Given the description of an element on the screen output the (x, y) to click on. 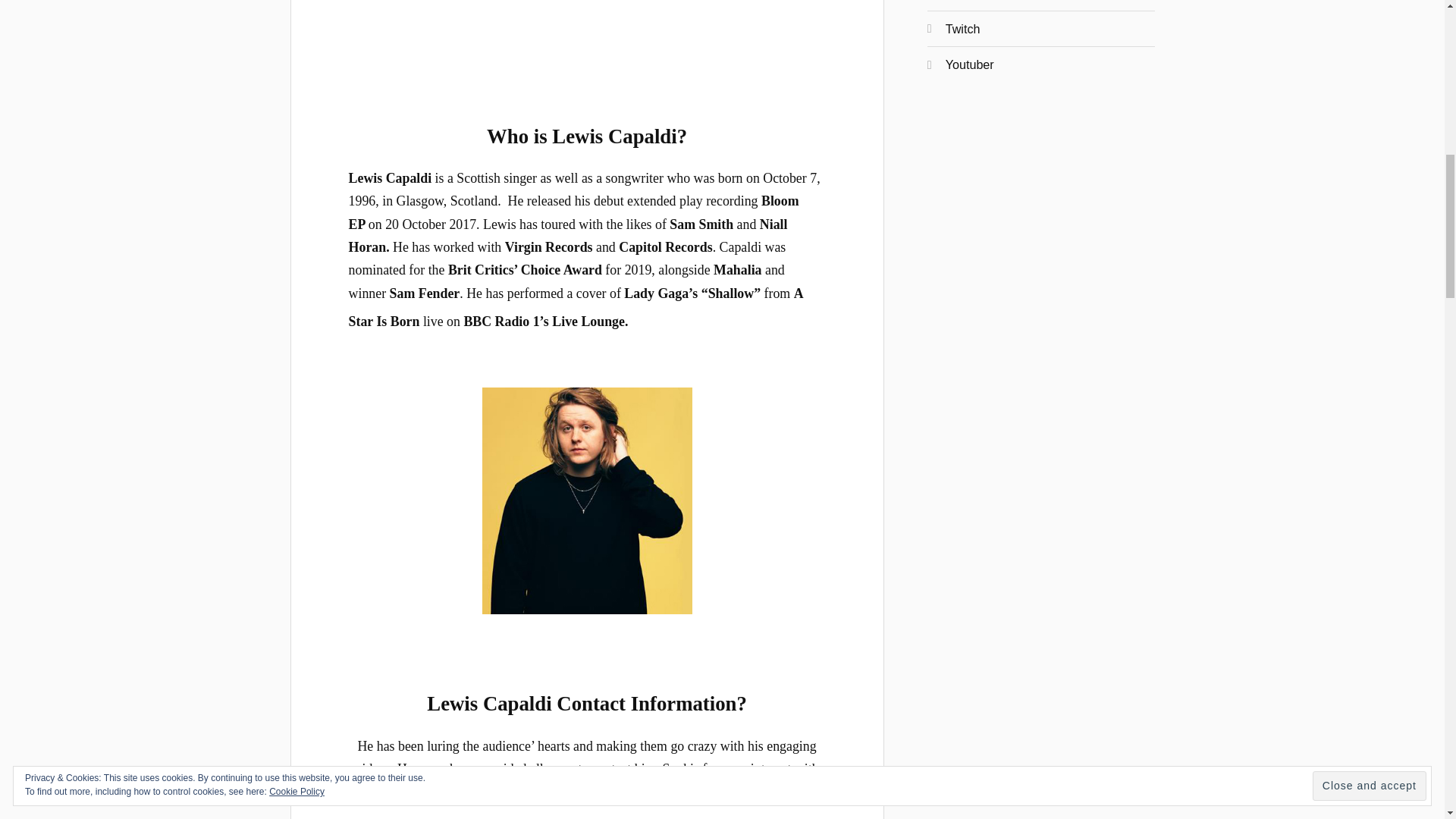
Youtuber (969, 64)
Twitch (961, 29)
Advertisement (587, 43)
